Given the description of an element on the screen output the (x, y) to click on. 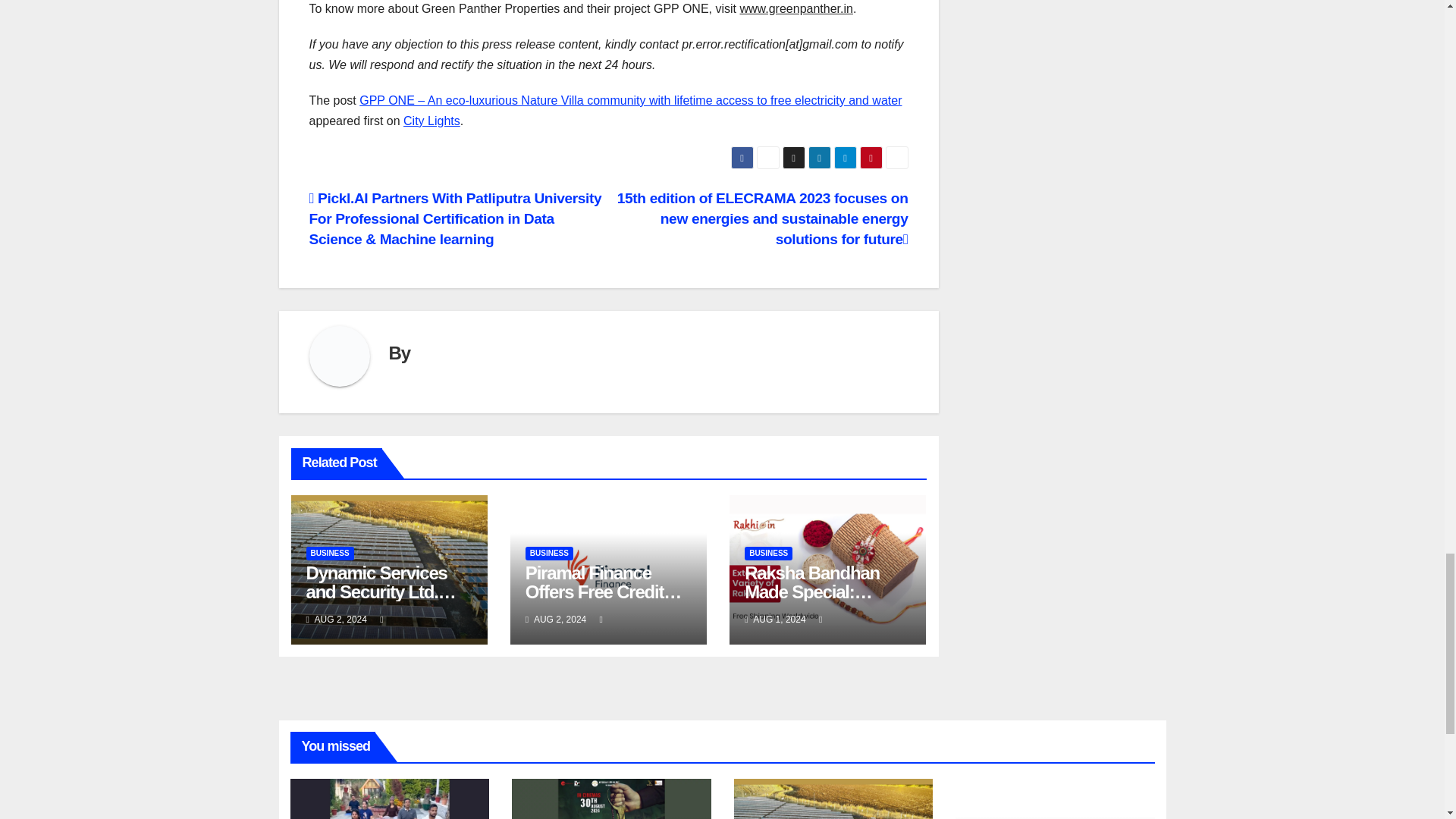
City Lights (431, 120)
BUSINESS (549, 553)
BUSINESS (329, 553)
